Given the description of an element on the screen output the (x, y) to click on. 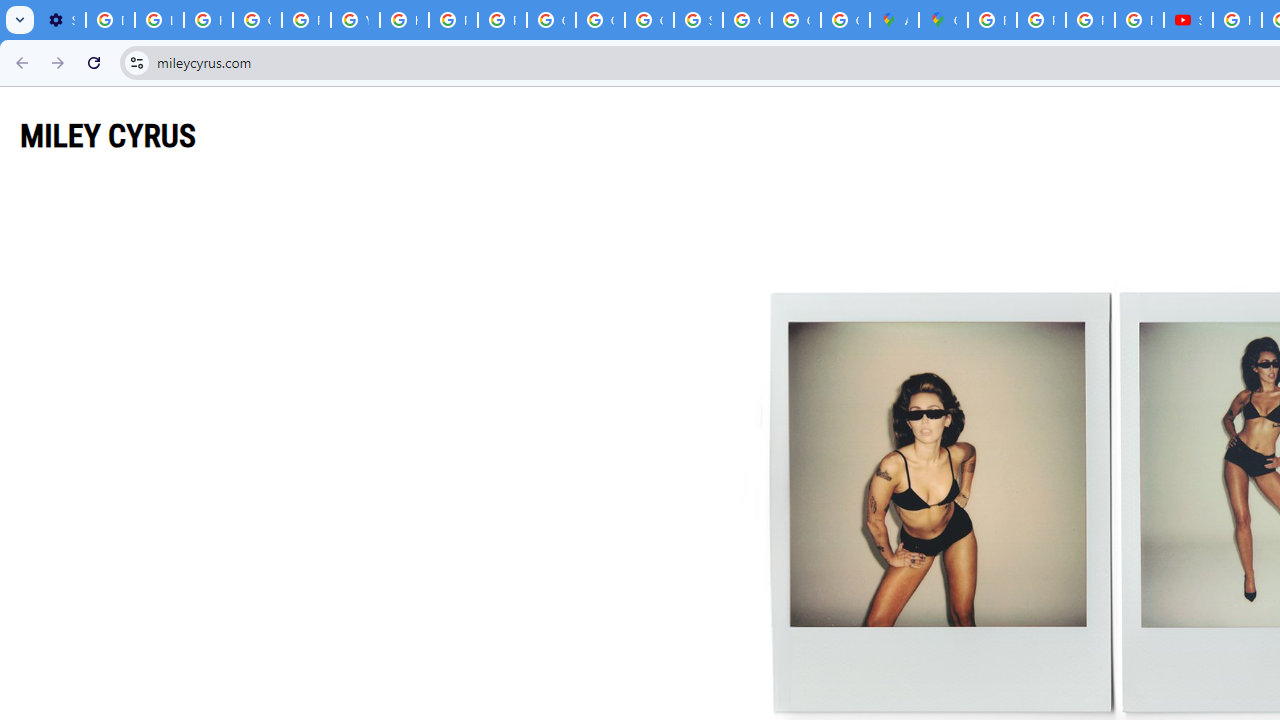
Google Maps (943, 20)
Privacy Help Center - Policies Help (1090, 20)
Settings - Customize profile (61, 20)
How Chrome protects your passwords - Google Chrome Help (1237, 20)
Privacy Help Center - Policies Help (306, 20)
Blogger Policies and Guidelines - Transparency Center (992, 20)
